Given the description of an element on the screen output the (x, y) to click on. 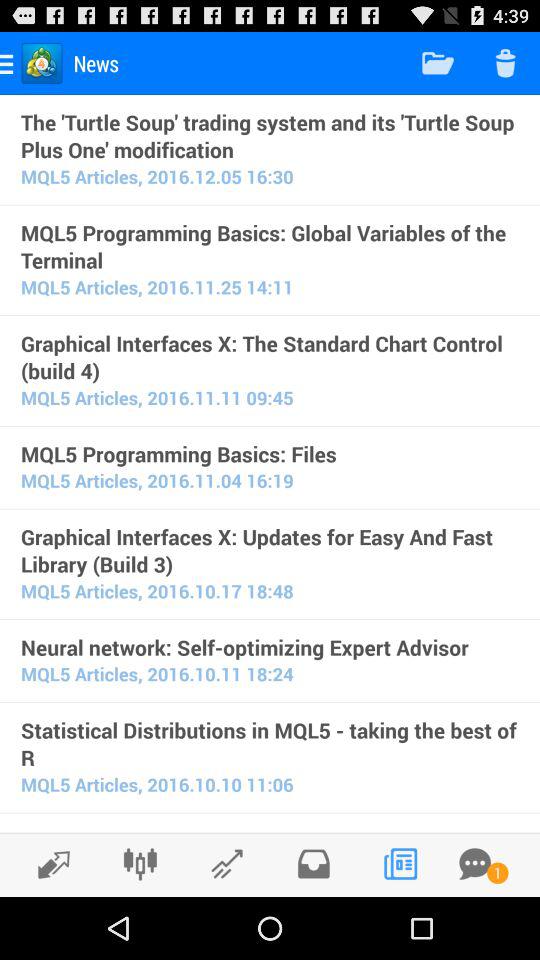
click options (140, 863)
